Given the description of an element on the screen output the (x, y) to click on. 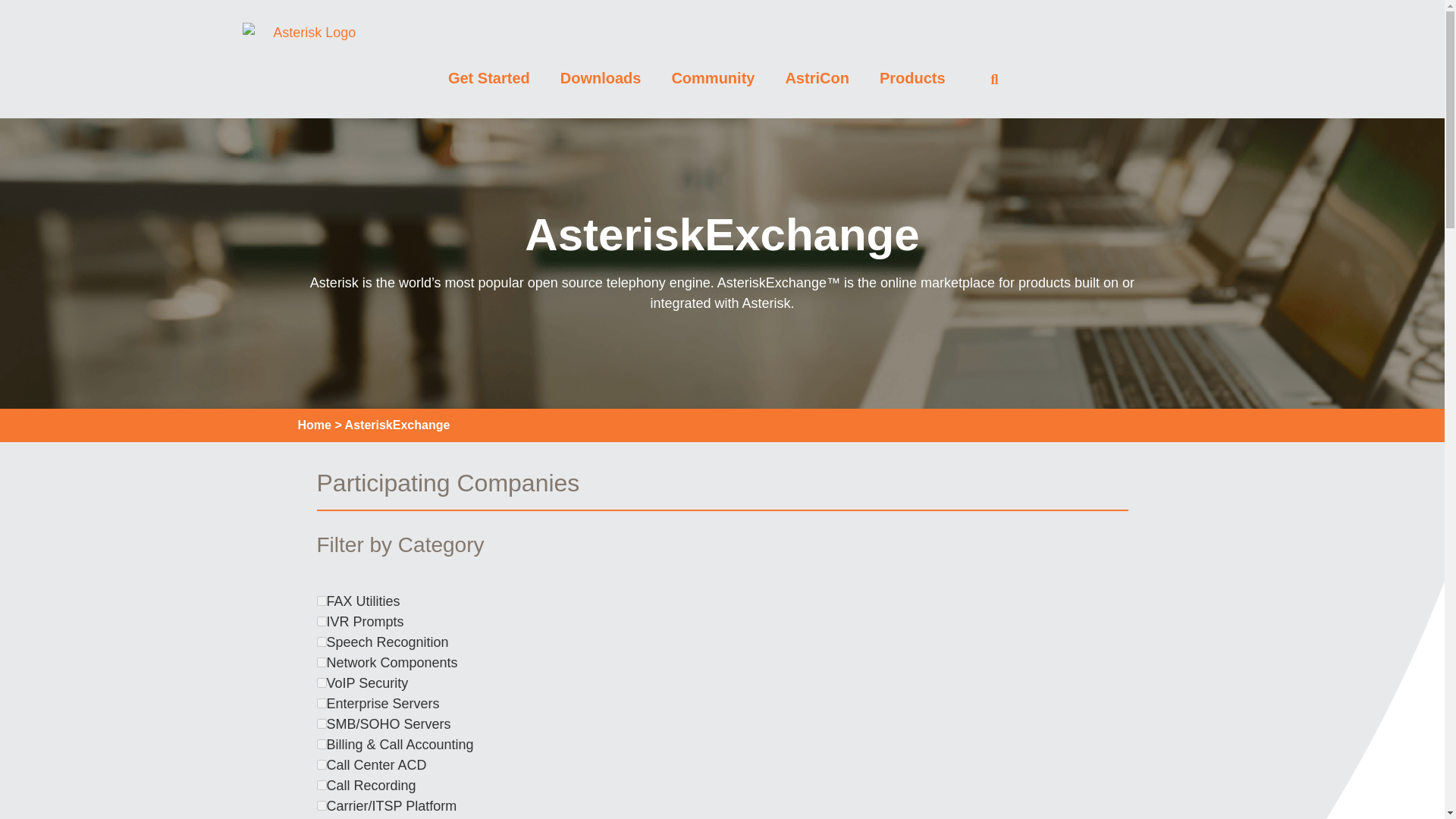
network-components (321, 662)
Community (713, 77)
AstriCon (816, 77)
billing-call-accounting (321, 744)
fax-utilities (321, 601)
Get Started (488, 77)
call-recording (321, 785)
call-center-acd (321, 764)
carrier-itsp-platform (321, 805)
ivr-promopts (321, 621)
